Given the description of an element on the screen output the (x, y) to click on. 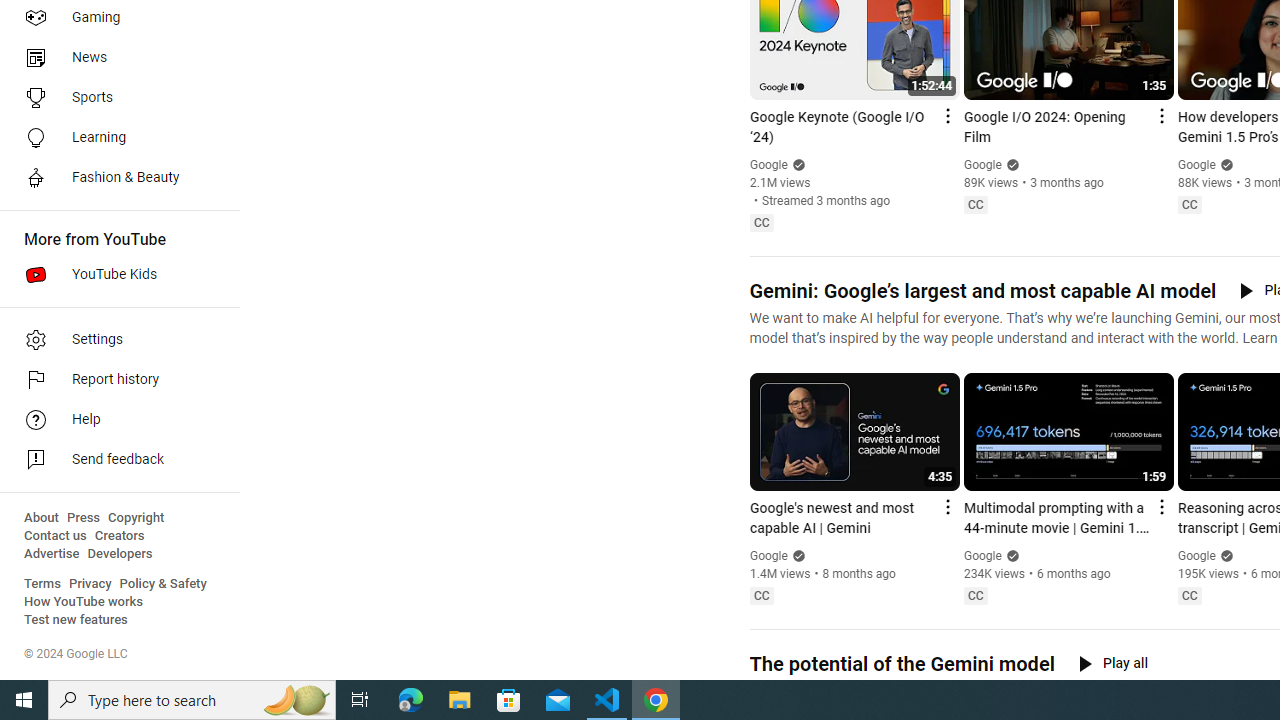
Creators (118, 536)
Developers (120, 554)
How YouTube works (83, 602)
Verified (1223, 555)
Learning (113, 137)
Action menu (1160, 506)
Closed captions (1189, 595)
News (113, 57)
Advertise (51, 554)
Report history (113, 380)
Play all (1113, 663)
